Given the description of an element on the screen output the (x, y) to click on. 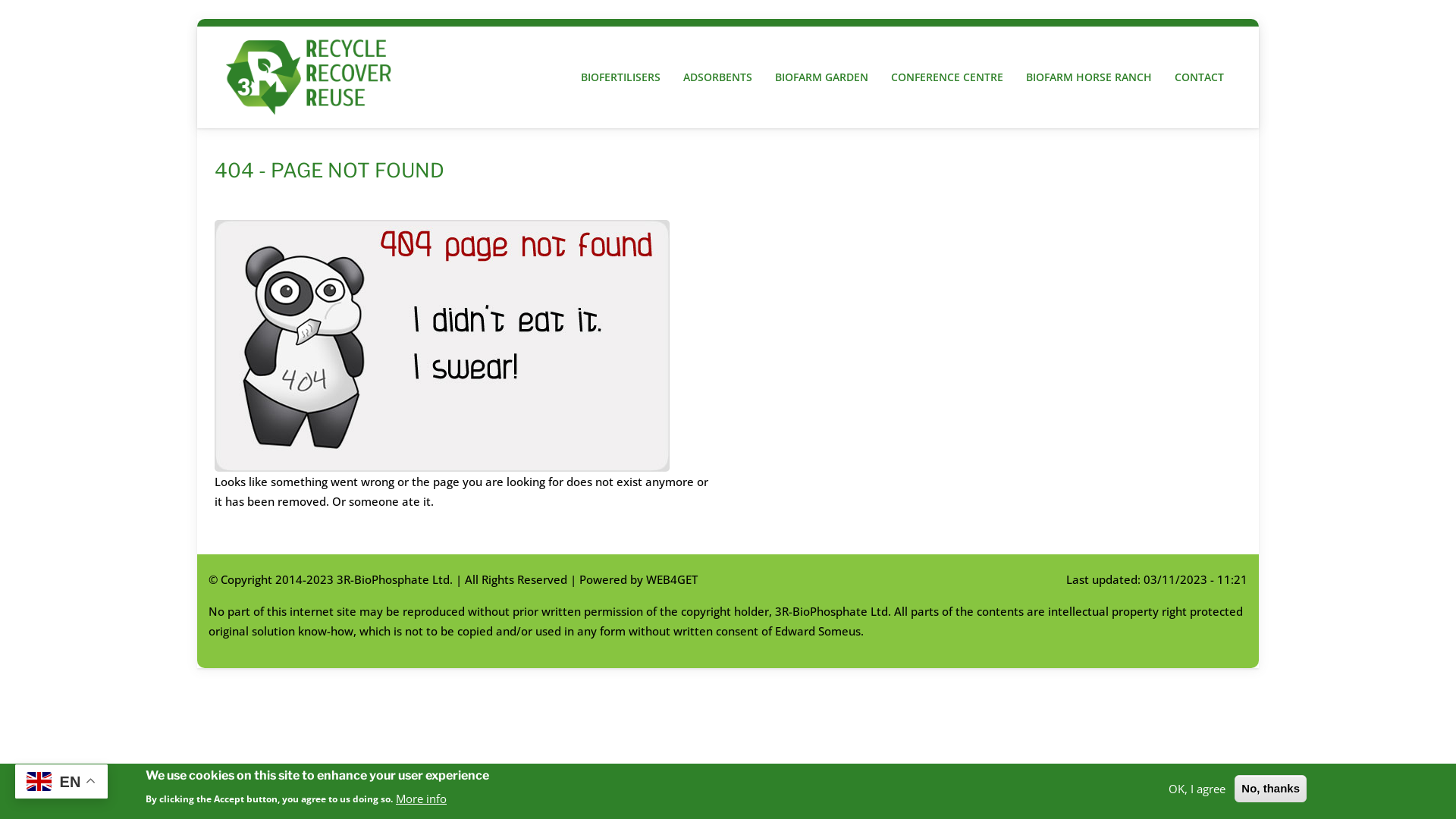
BIOFERTILISERS Element type: text (620, 77)
OK, I agree Element type: text (1196, 787)
BIOFARM HORSE RANCH Element type: text (1088, 77)
BIOFARM GARDEN Element type: text (821, 77)
CONTACT Element type: text (1199, 77)
No, thanks Element type: text (1270, 788)
More info Element type: text (420, 797)
Skip to main content Element type: text (0, 0)
Home Element type: hover (313, 77)
CONFERENCE CENTRE Element type: text (946, 77)
ADSORBENTS Element type: text (717, 77)
WEB4GET Element type: text (671, 578)
